Given the description of an element on the screen output the (x, y) to click on. 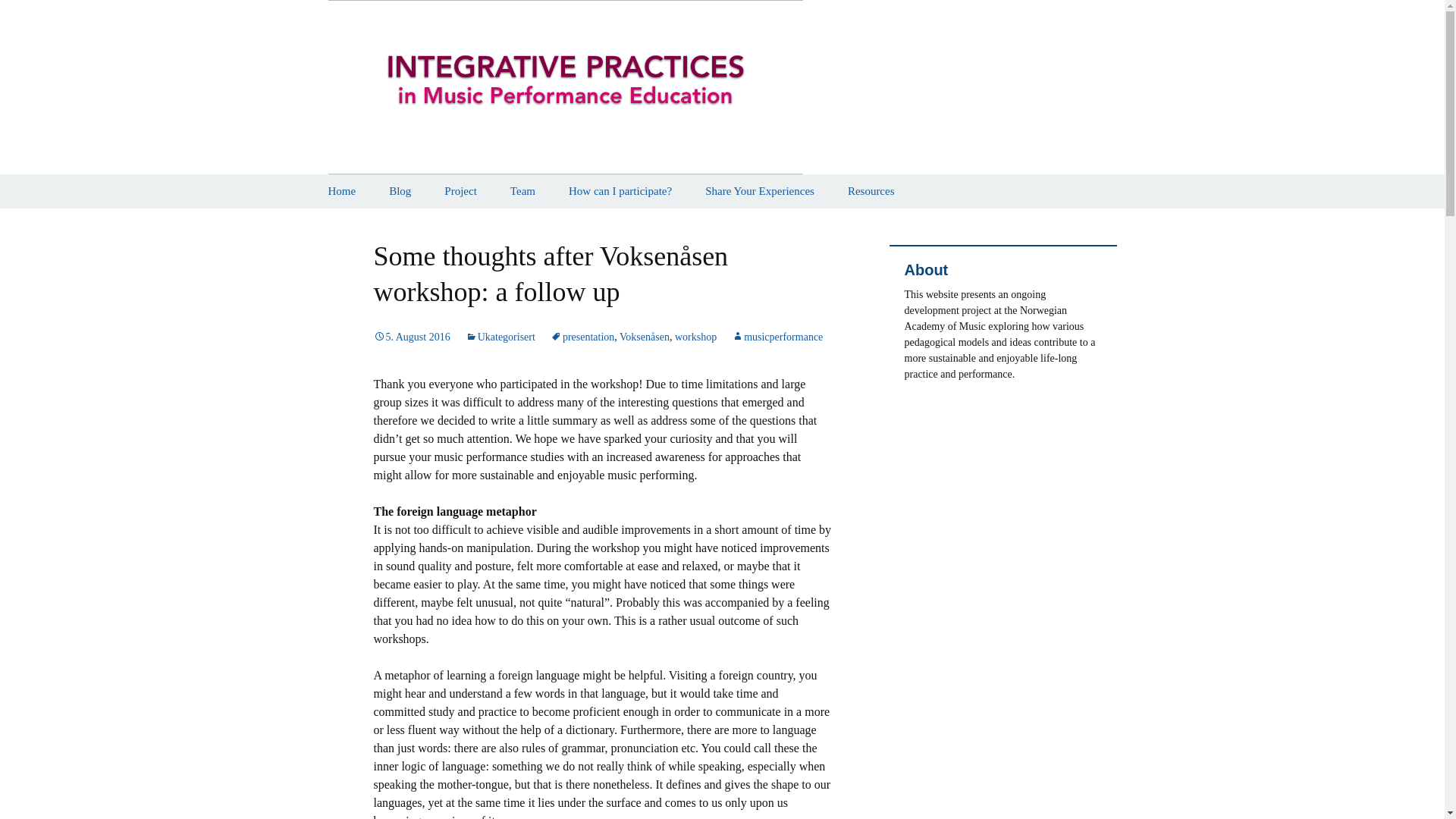
Project (460, 191)
workshop (695, 337)
Blog (400, 191)
Team (522, 191)
Ukategorisert (500, 337)
How can I participate? (620, 191)
5. August 2016 (410, 337)
presentation (582, 337)
Share Your Experiences (759, 191)
Resources (871, 191)
musicperformance (777, 337)
View all posts by musicperformance (777, 337)
